Given the description of an element on the screen output the (x, y) to click on. 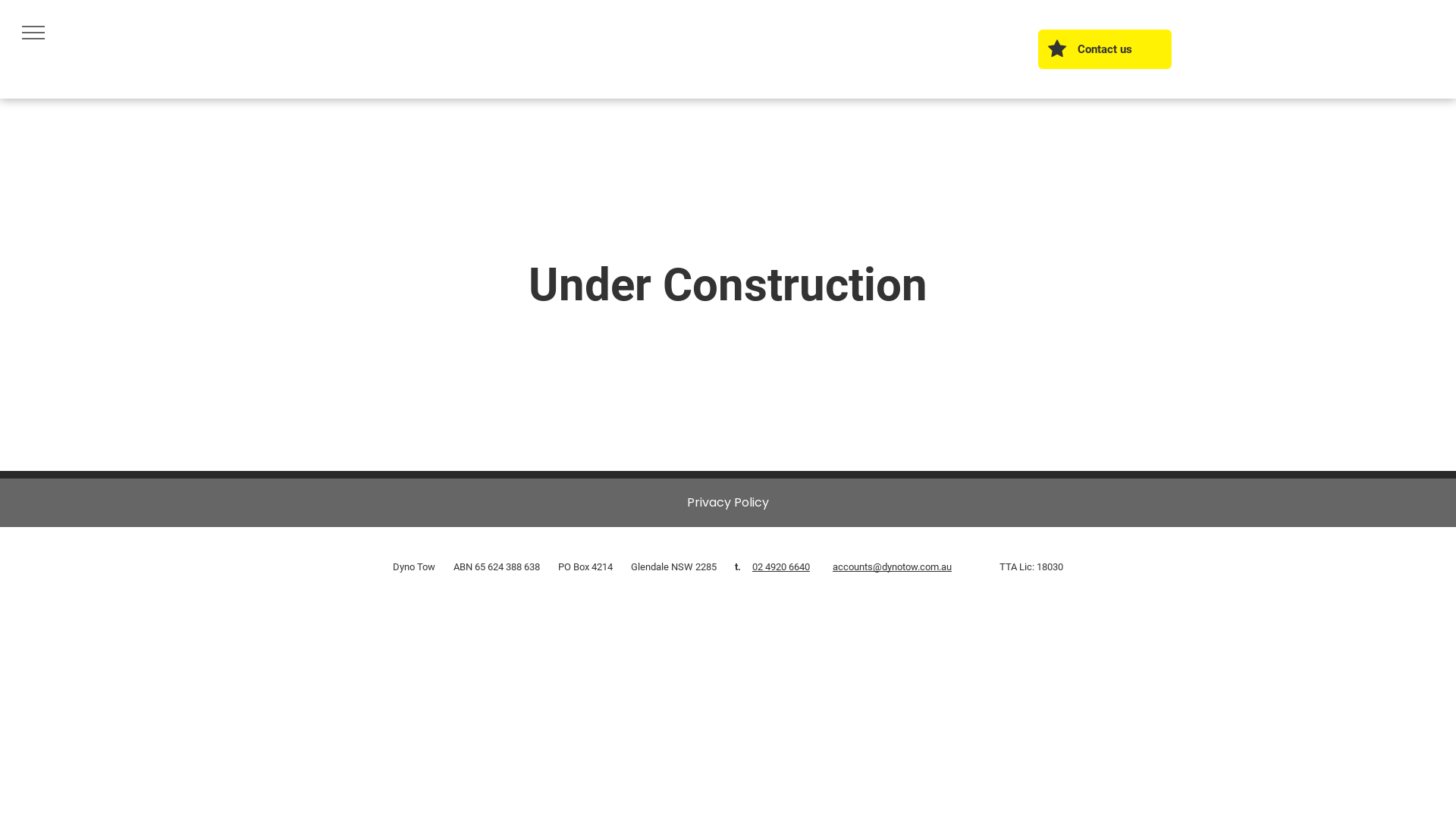
Contact us Element type: text (1104, 49)
Privacy Policy Element type: text (727, 502)
accounts@dynotow.com.au Element type: text (891, 566)
02 4920 6640 Element type: text (780, 566)
